Given the description of an element on the screen output the (x, y) to click on. 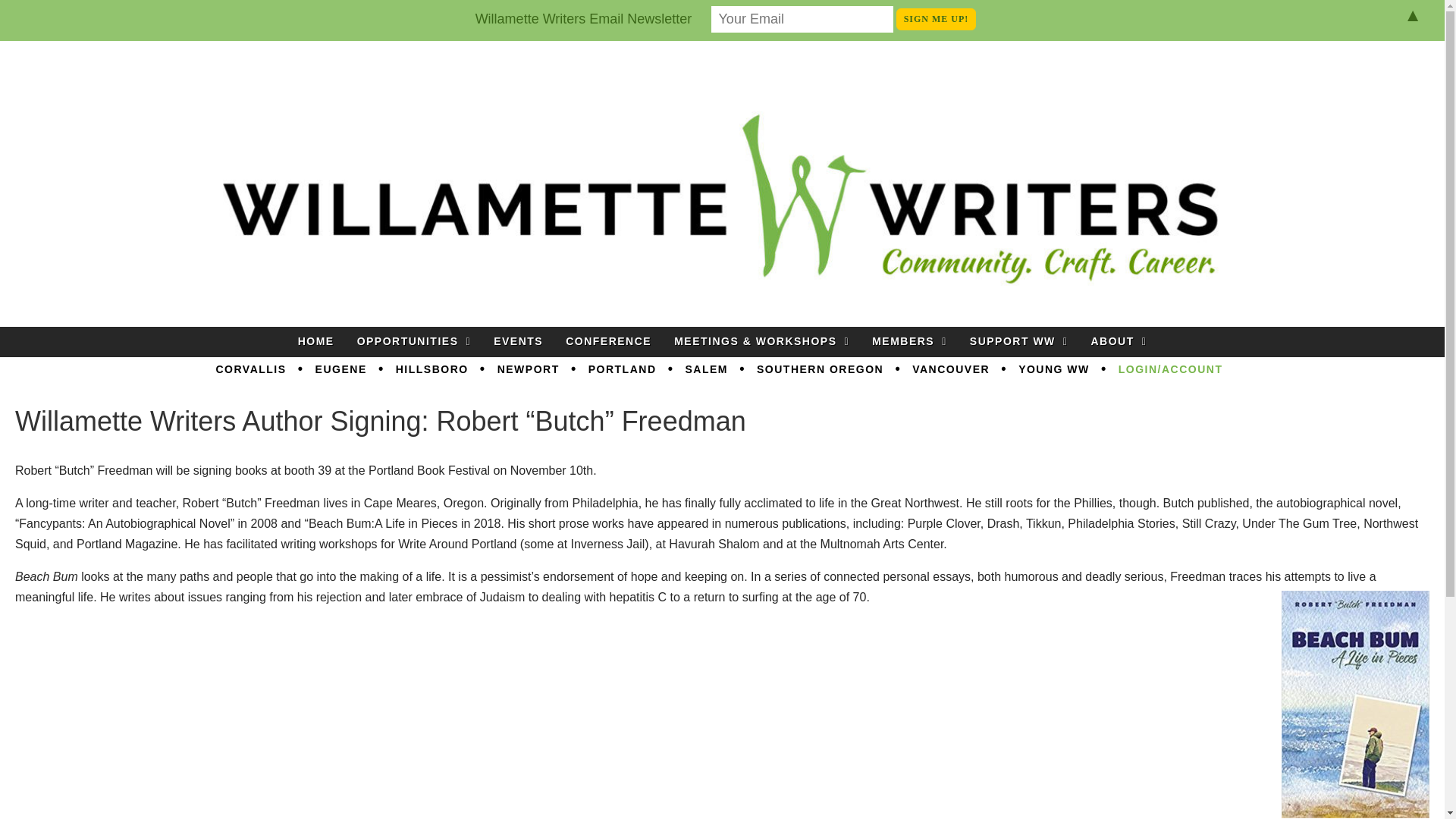
CORVALLIS (250, 370)
Our Coast Chapter in Newport (528, 370)
Willamette Writers (152, 81)
SUPPORT WW (1019, 341)
EVENTS (517, 341)
OPPORTUNITIES (413, 341)
Our Southern Oregon Chapter in Central Point (820, 370)
Skip to content (768, 335)
ABOUT (1117, 341)
EUGENE (341, 370)
Our Mid-Valley Chapter in Eugene (341, 370)
Sign me up! (936, 18)
Willamette Writers (152, 81)
CONFERENCE (608, 341)
MEMBERS (909, 341)
